Given the description of an element on the screen output the (x, y) to click on. 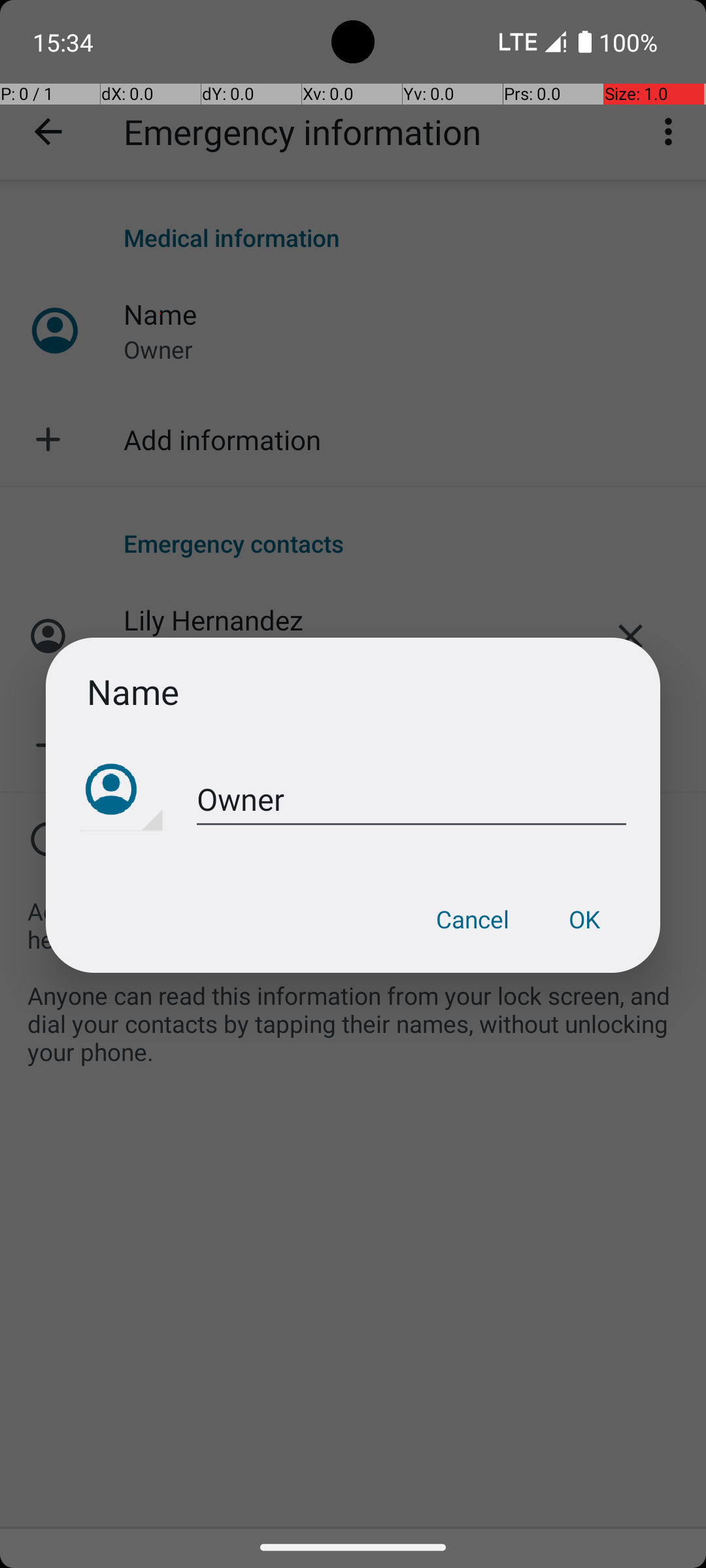
Select photo Element type: android.widget.ImageView (121, 790)
Owner Element type: android.widget.EditText (411, 799)
